Given the description of an element on the screen output the (x, y) to click on. 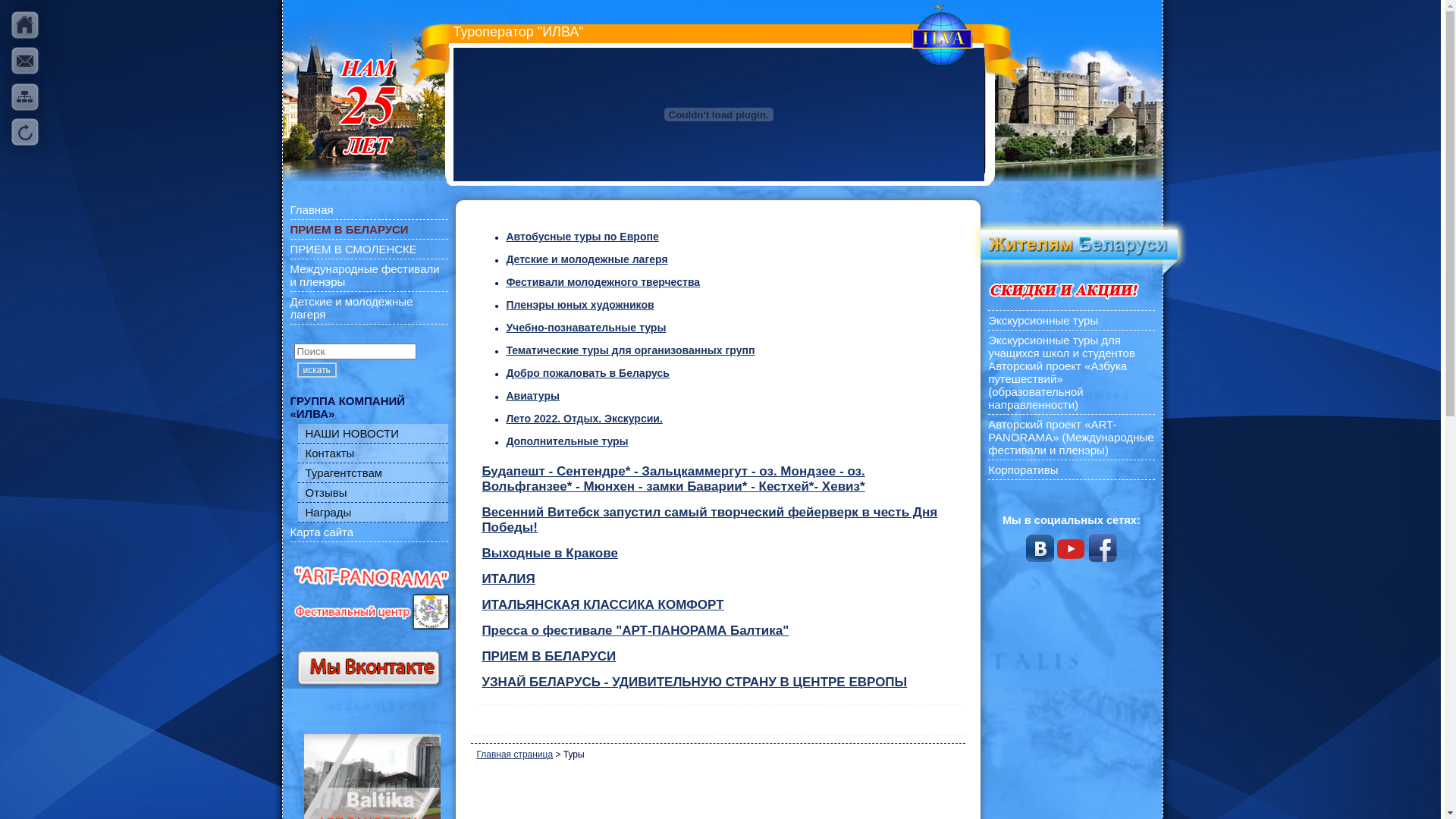
  Element type: text (25, 61)
  Element type: text (25, 132)
  Element type: text (25, 96)
  Element type: text (25, 25)
